Given the description of an element on the screen output the (x, y) to click on. 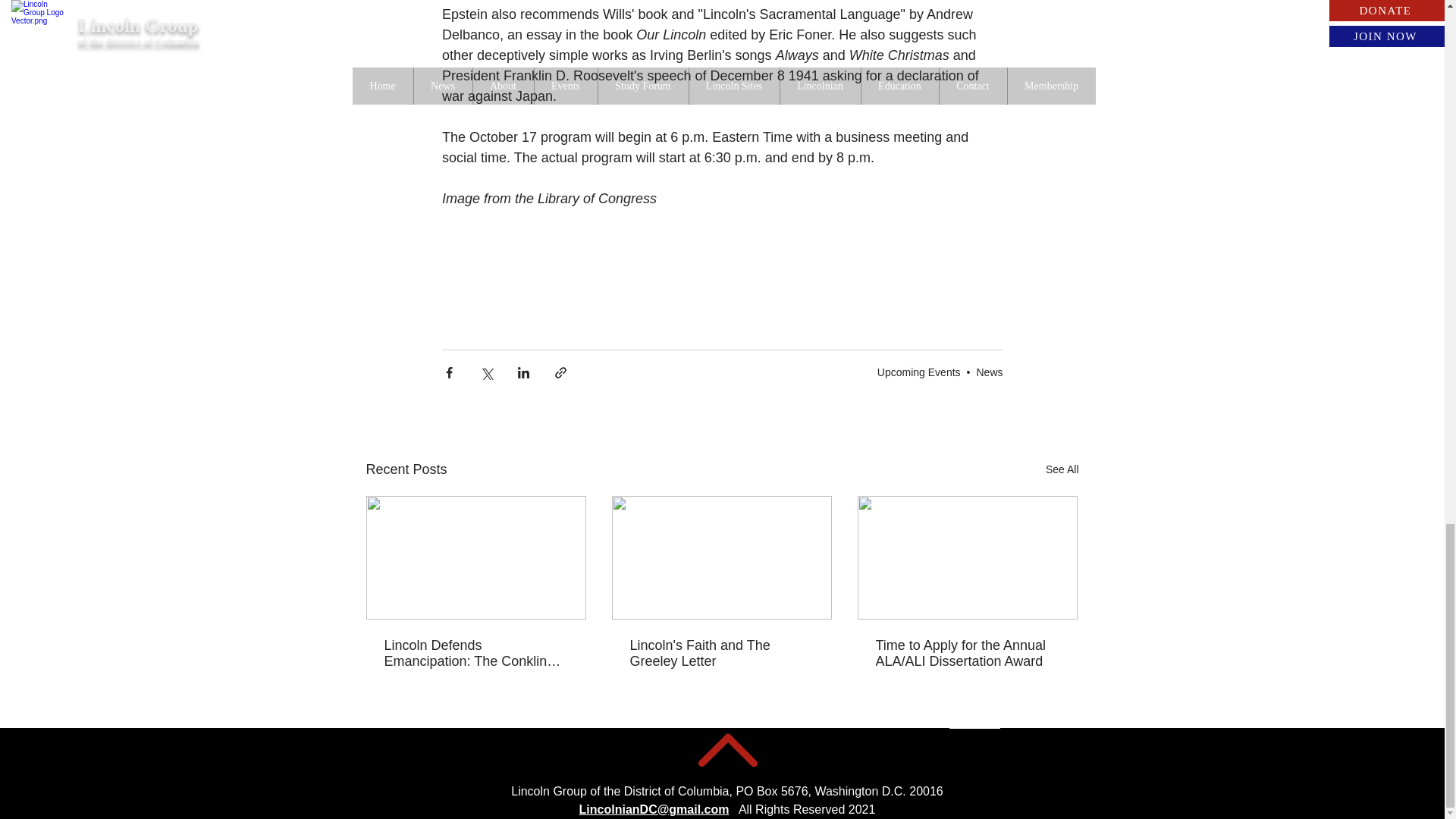
News (989, 372)
See All (1061, 469)
Upcoming Events (918, 372)
